Given the description of an element on the screen output the (x, y) to click on. 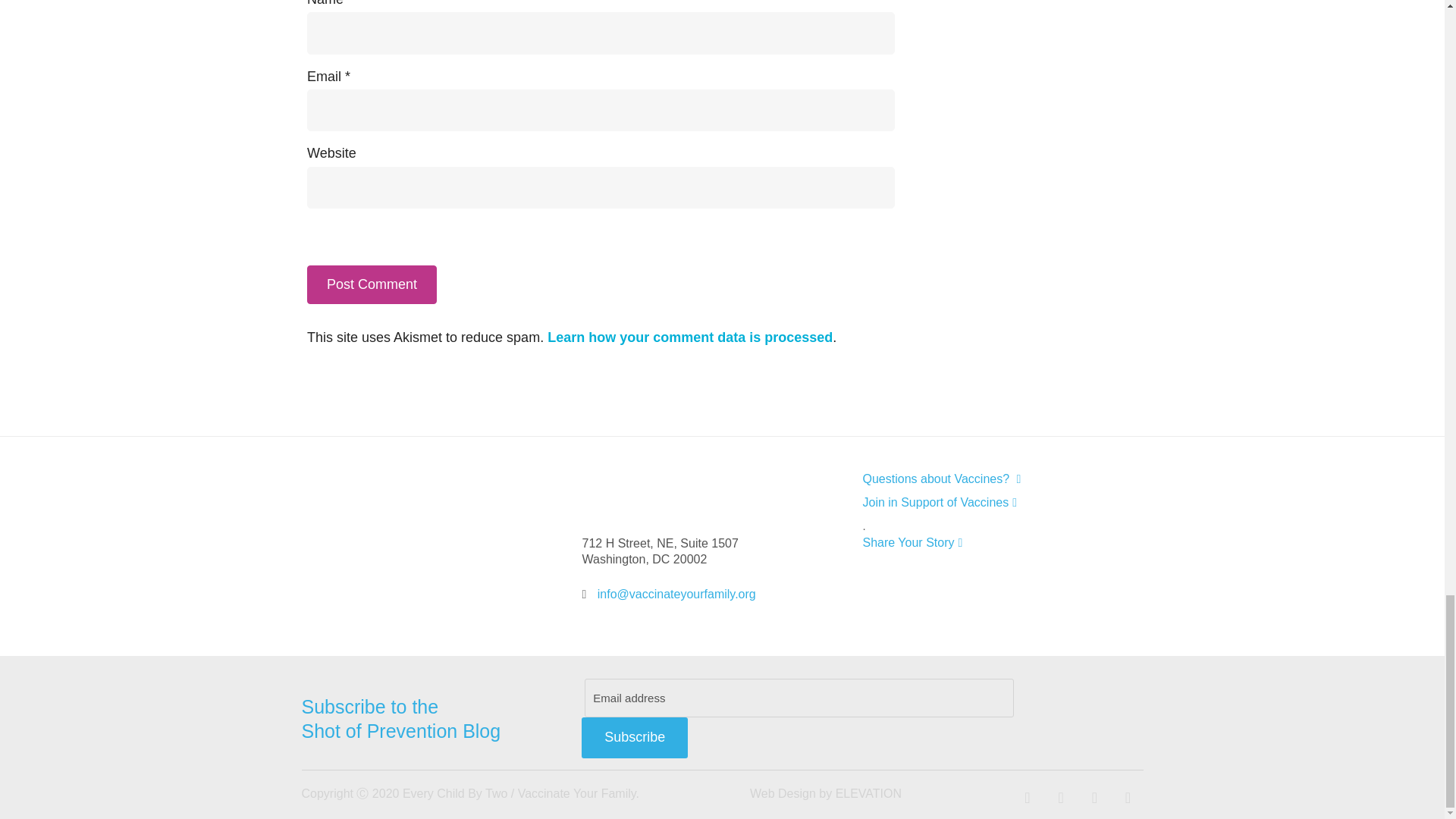
Share Your Story (992, 542)
Join in Support of Vaccines (992, 502)
Website design for nonprofits (782, 793)
Elevation Web (868, 793)
Questions about Vaccines? (992, 478)
Learn how your comment data is processed (689, 337)
Post Comment (371, 284)
Post Comment (371, 284)
Subscribe (633, 737)
